Given the description of an element on the screen output the (x, y) to click on. 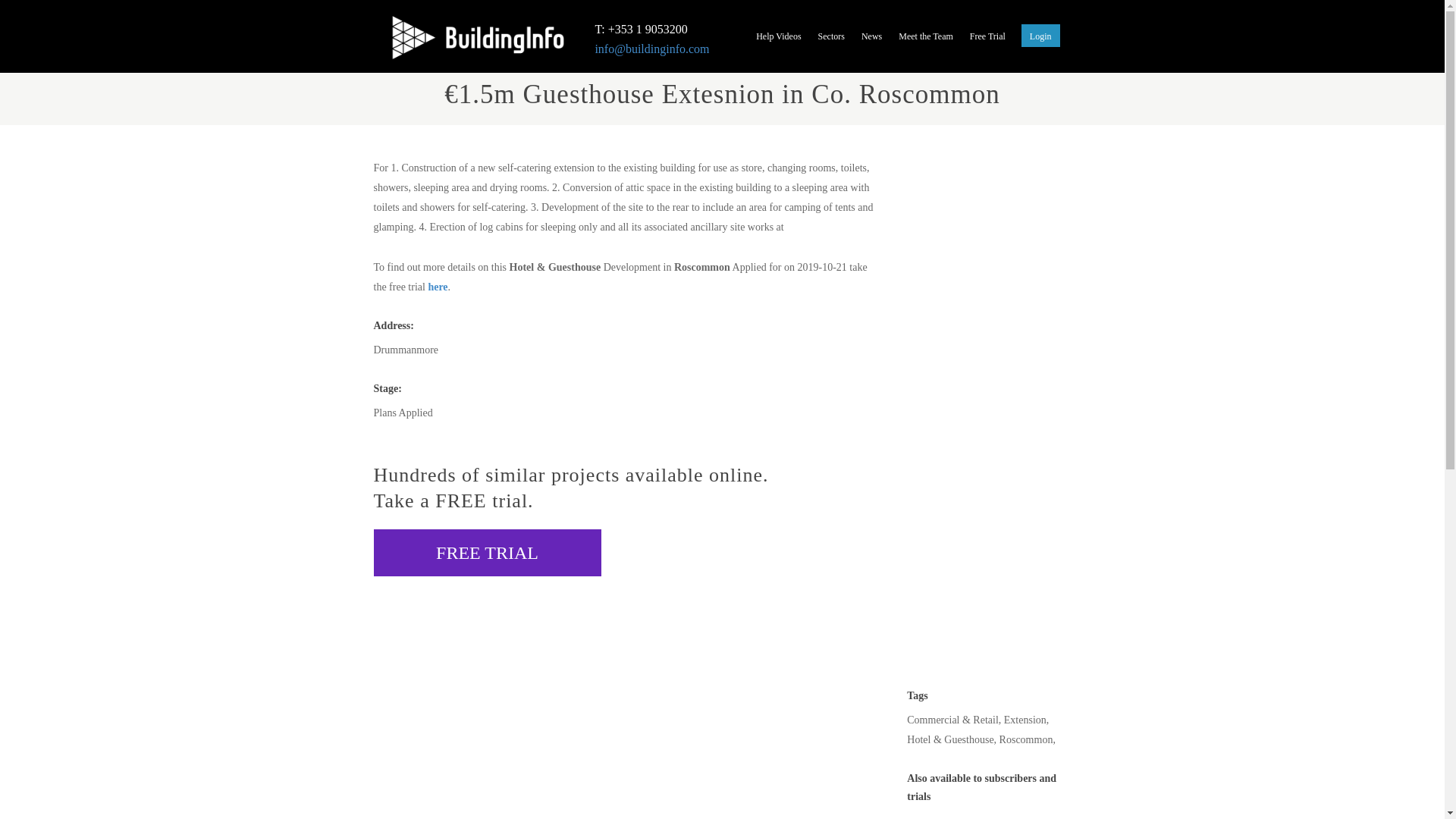
here (437, 286)
FREE TRIAL (485, 552)
Meet the Team (925, 38)
